Given the description of an element on the screen output the (x, y) to click on. 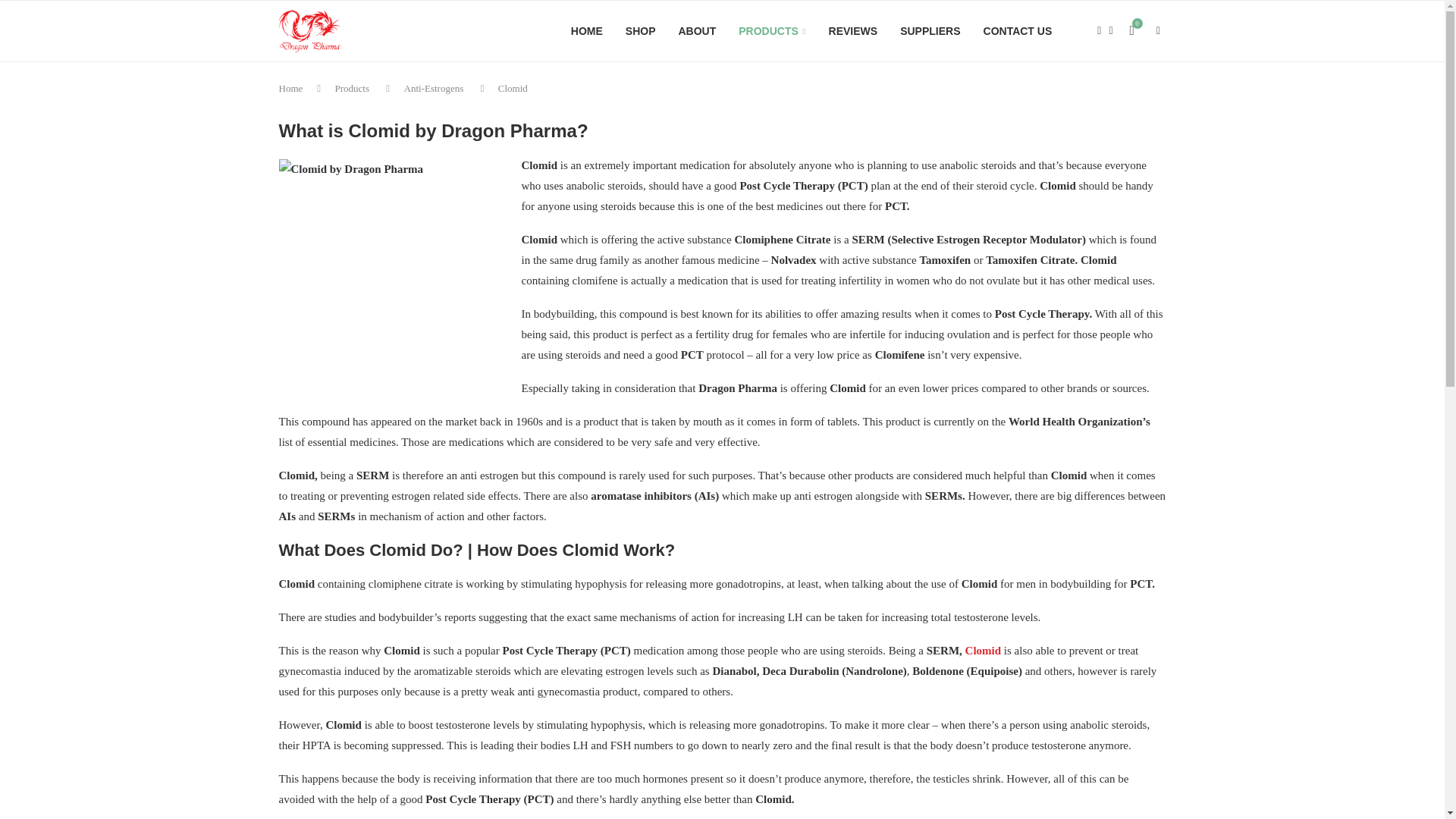
PRODUCTS (771, 31)
